Given the description of an element on the screen output the (x, y) to click on. 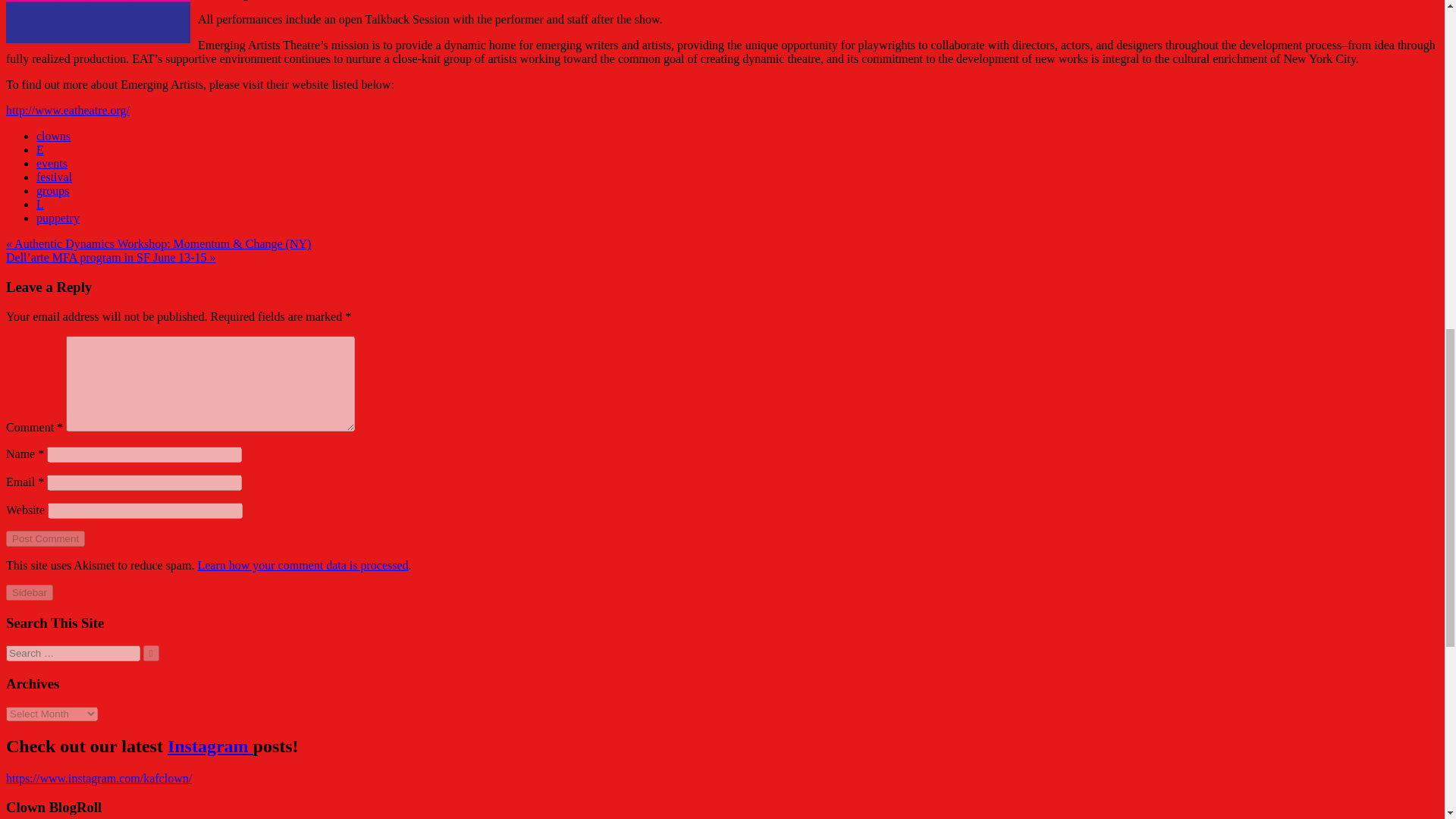
Instagram (210, 745)
Sidebar (28, 592)
puppetry (58, 217)
clowns (52, 135)
festival (53, 176)
events (51, 163)
Post Comment (44, 538)
groups (52, 190)
Learn how your comment data is processed (301, 564)
Post Comment (44, 538)
